Given the description of an element on the screen output the (x, y) to click on. 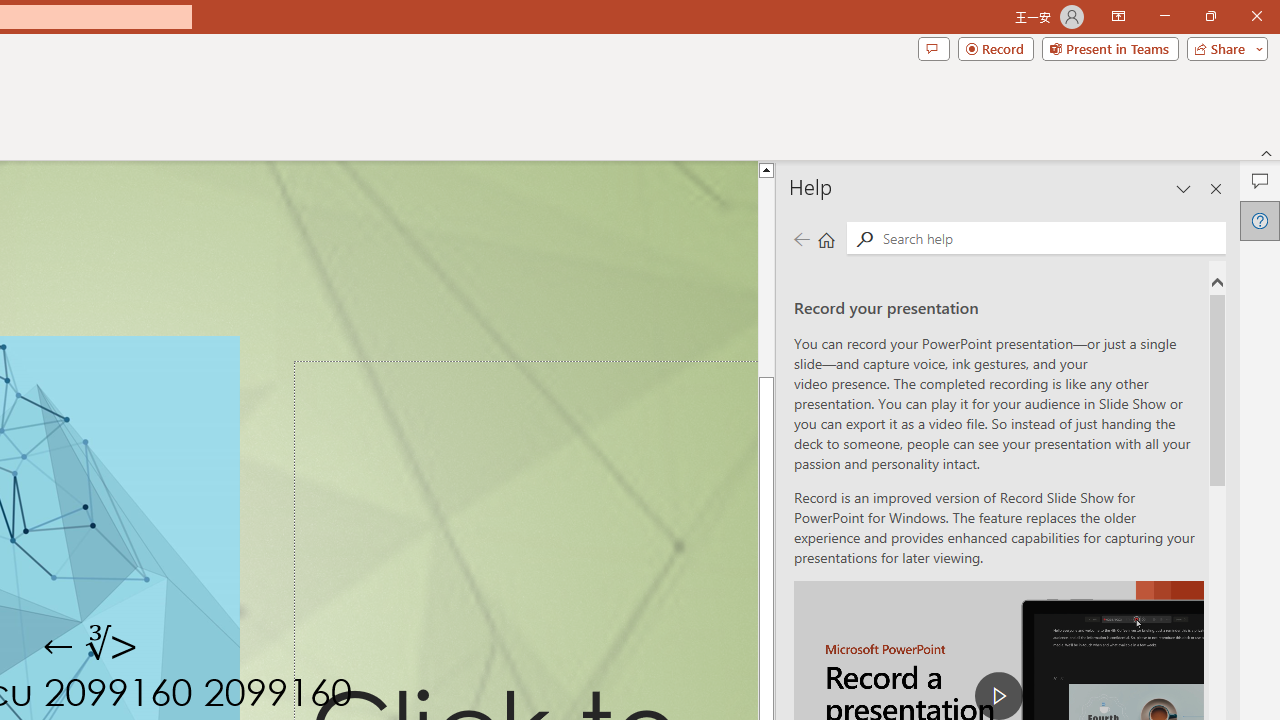
Previous page (801, 238)
